Given the description of an element on the screen output the (x, y) to click on. 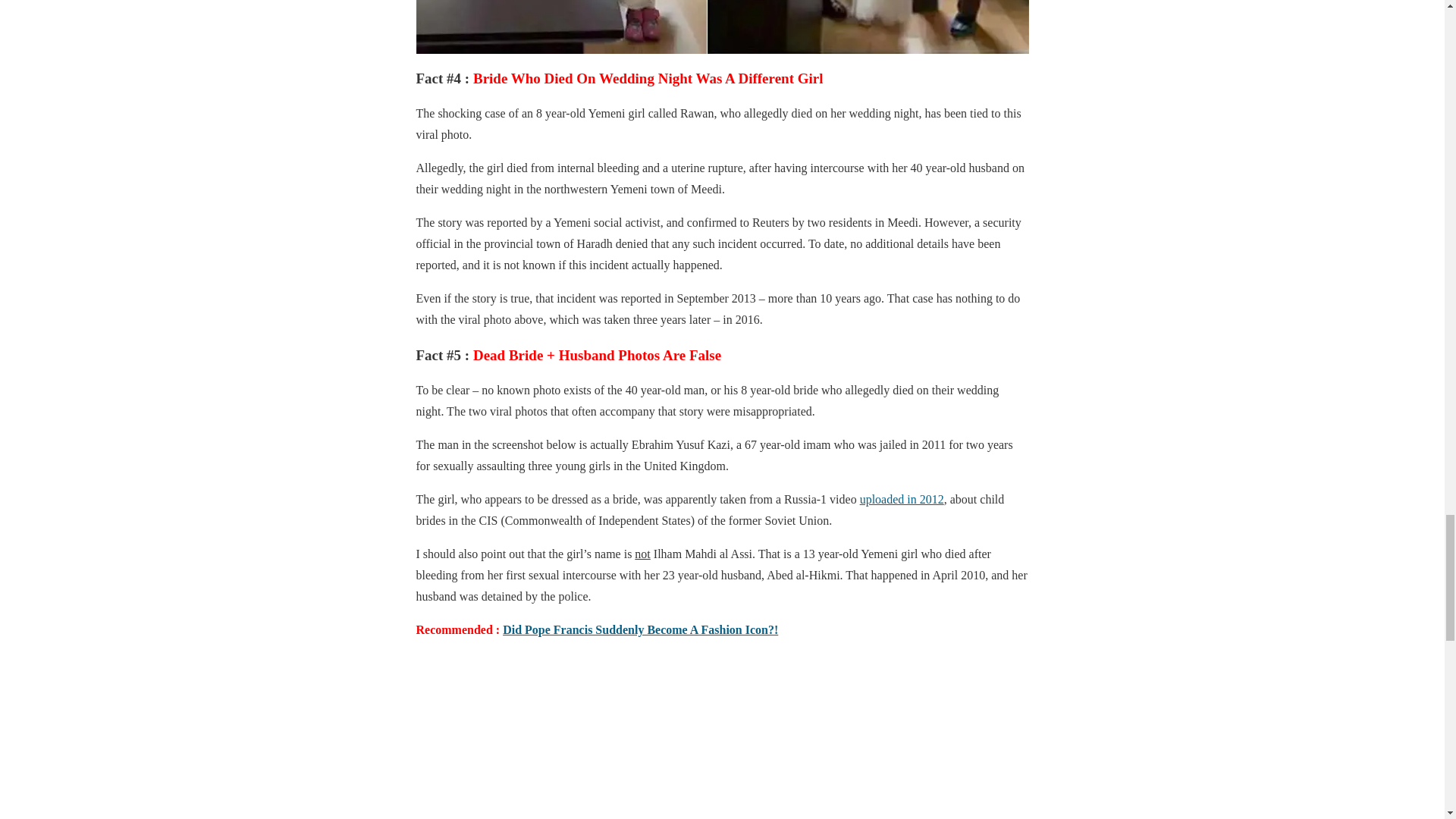
Did Pope Francis Suddenly Become A Fashion Icon?! (639, 629)
uploaded in 2012 (901, 499)
